Given the description of an element on the screen output the (x, y) to click on. 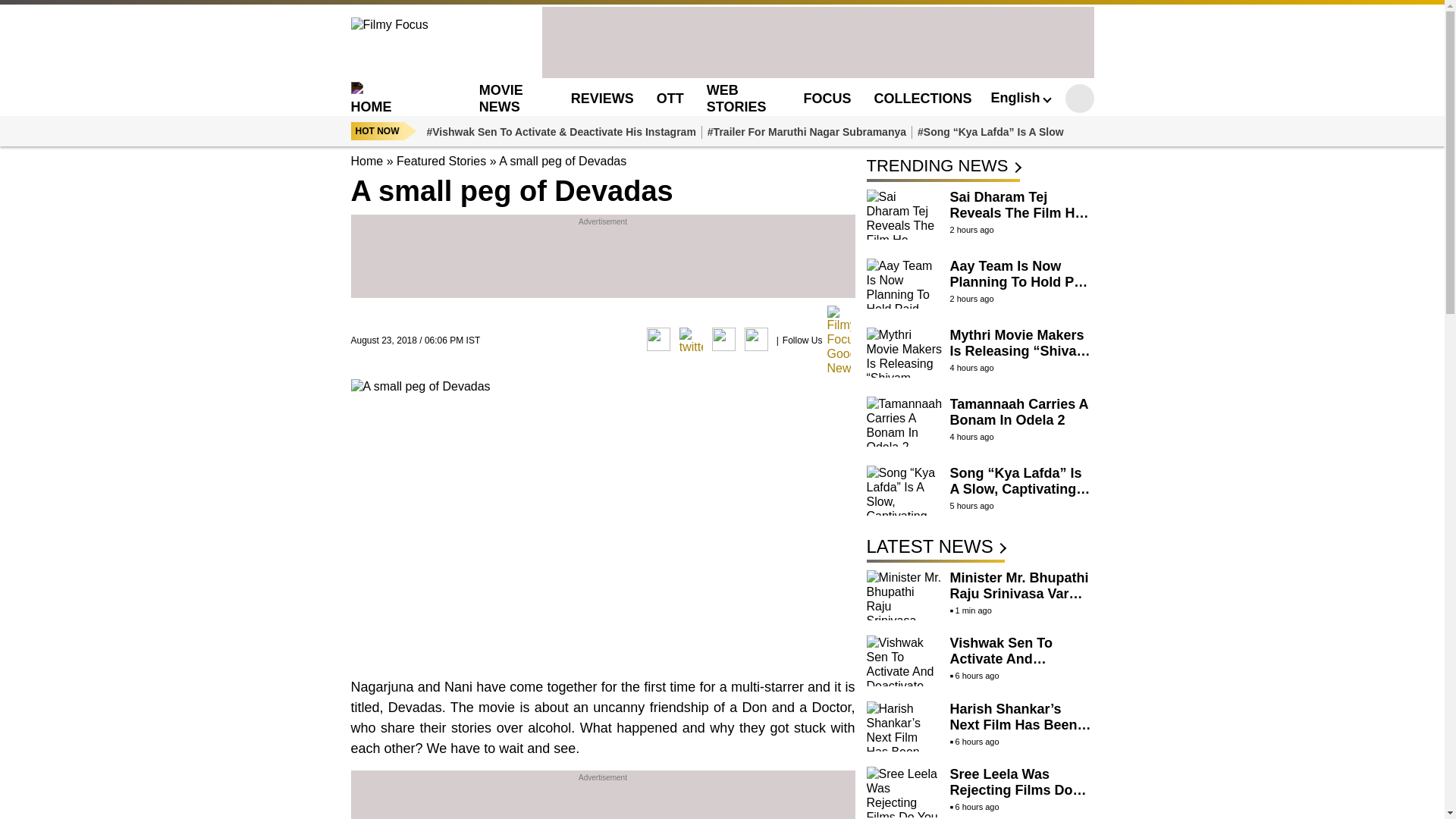
Reviews (601, 98)
HOME (395, 97)
Featured Stories (441, 160)
COLLECTIONS (922, 98)
Home (395, 97)
REVIEWS (601, 98)
Focus (827, 98)
Web Stories (736, 97)
English (1019, 97)
OTT (670, 98)
FaceBook (657, 339)
MOVIE NEWS (500, 97)
Twitter (691, 339)
WEB STORIES (736, 97)
Home (366, 160)
